Given the description of an element on the screen output the (x, y) to click on. 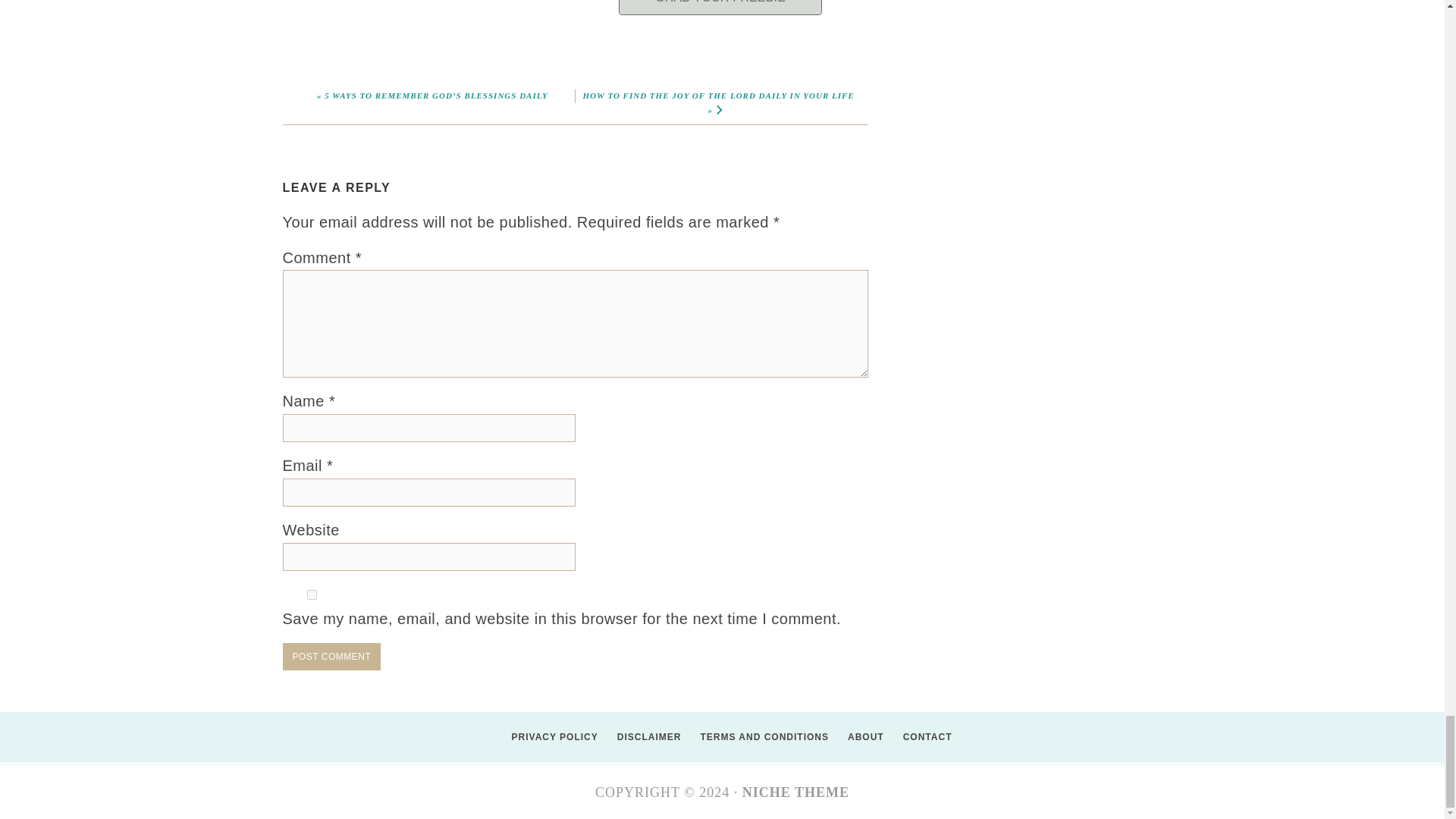
PRIVACY POLICY (545, 736)
GRAB YOUR FREEBIE (720, 7)
CONTACT (917, 736)
DISCLAIMER (639, 736)
Post Comment (331, 656)
yes (311, 594)
ABOUT (855, 736)
TERMS AND CONDITIONS (754, 736)
Post Comment (331, 656)
NICHE THEME (795, 792)
